Given the description of an element on the screen output the (x, y) to click on. 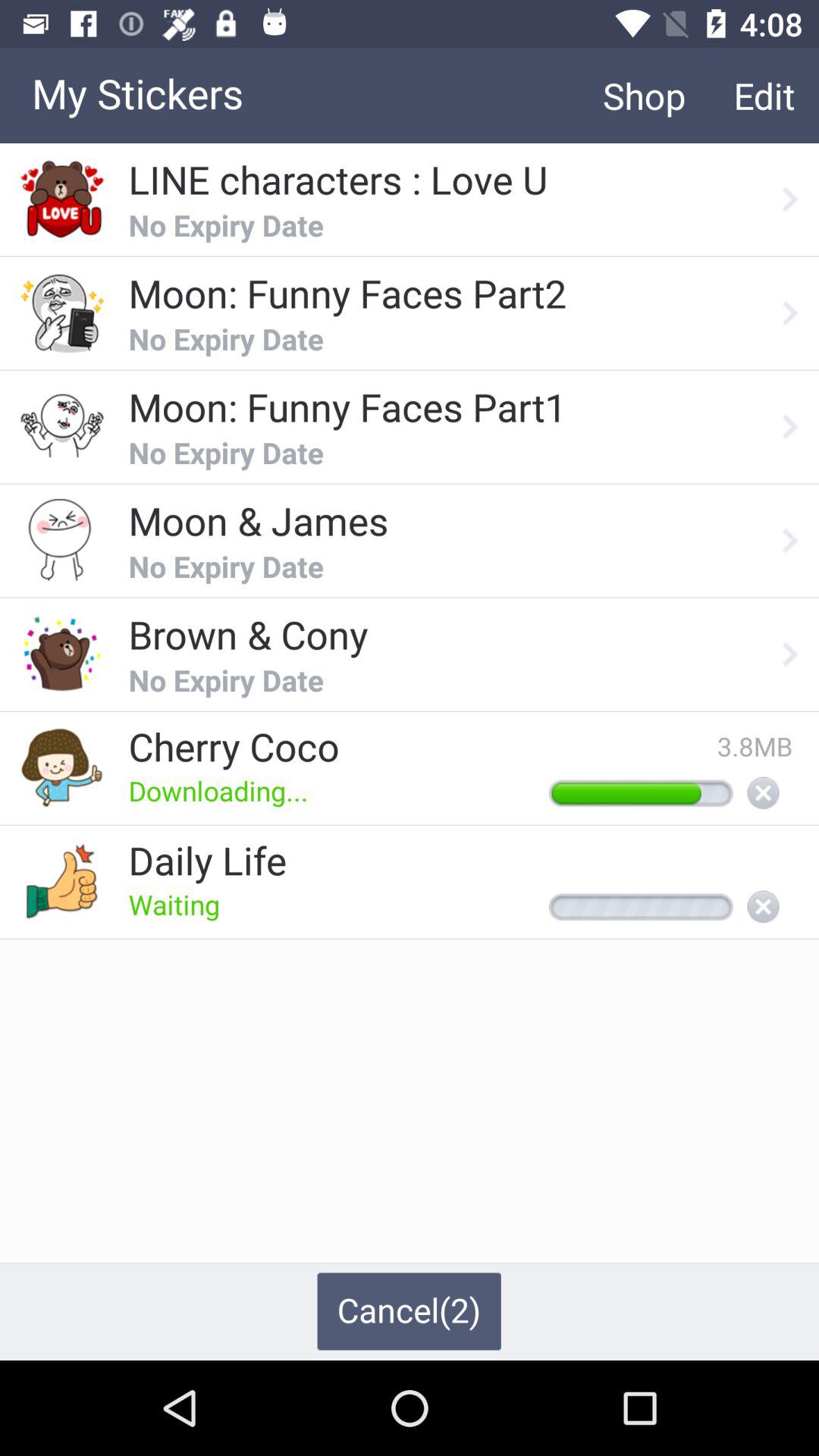
go to colsed (762, 907)
